Given the description of an element on the screen output the (x, y) to click on. 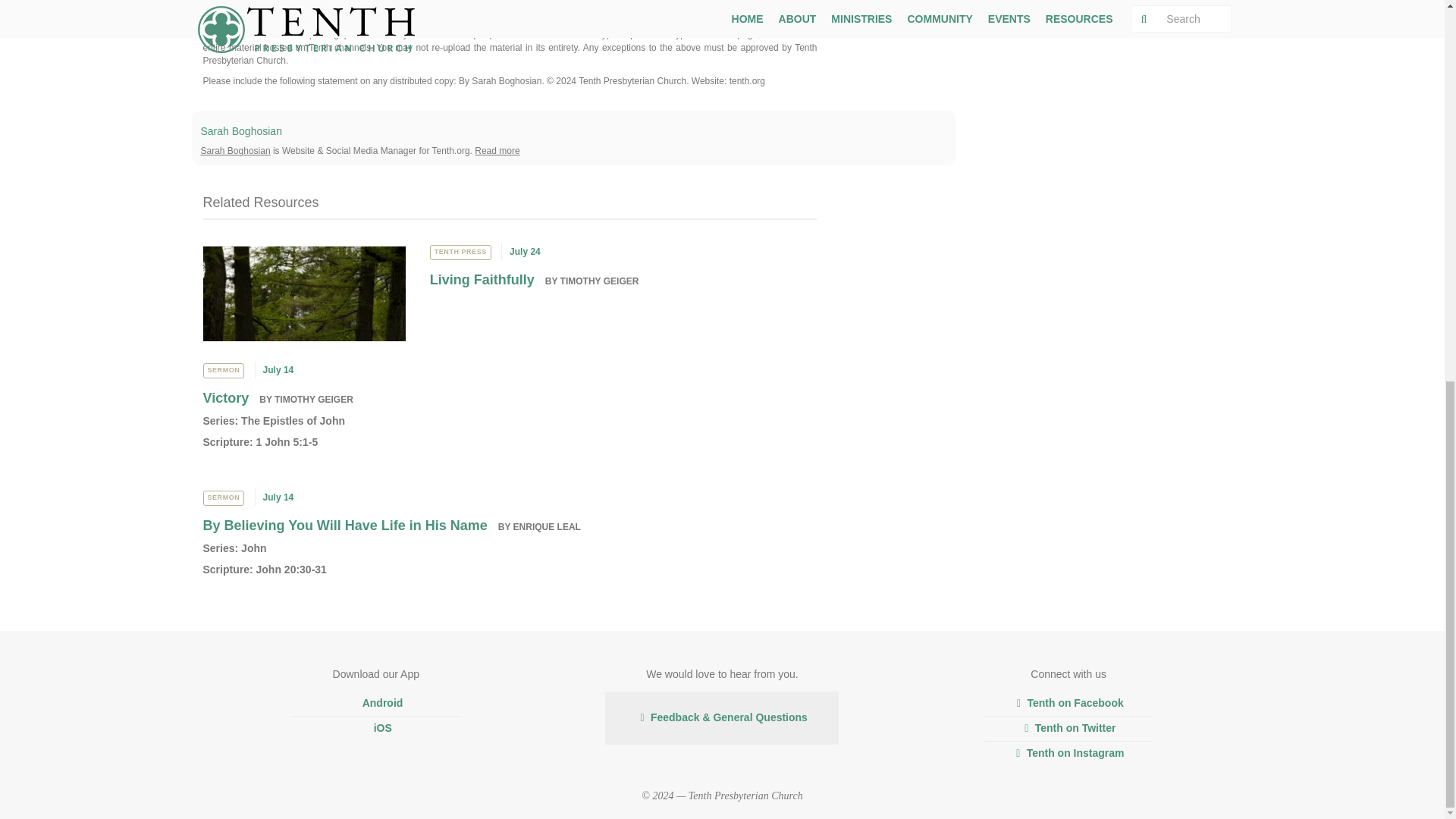
Resource Series (293, 420)
Resource Series (253, 548)
